Given the description of an element on the screen output the (x, y) to click on. 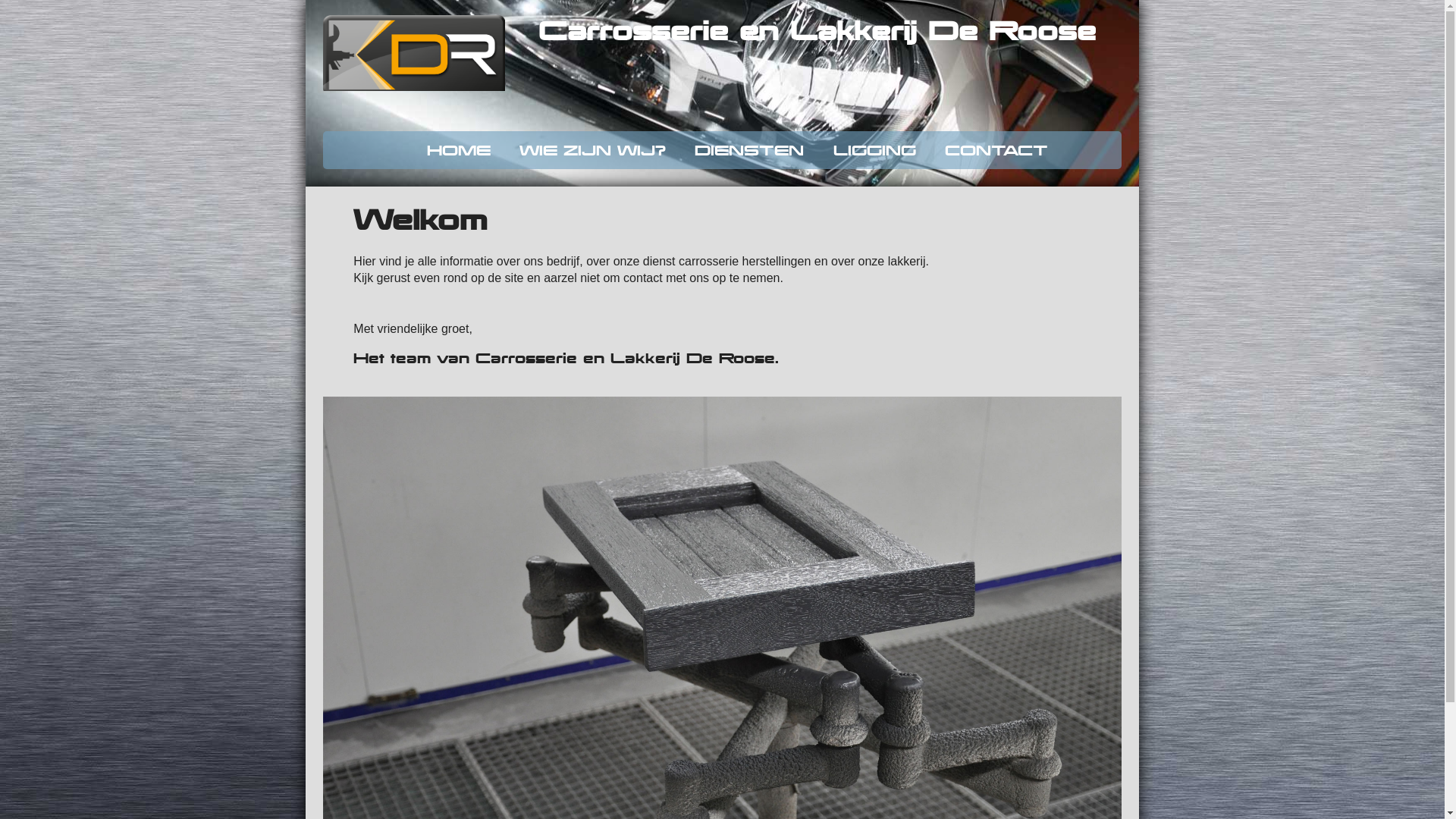
HOME Element type: text (458, 150)
LIGGING Element type: text (874, 150)
DIENSTEN Element type: text (748, 150)
WIE ZIJN WIJ? Element type: text (592, 150)
CONTACT Element type: text (996, 150)
